Given the description of an element on the screen output the (x, y) to click on. 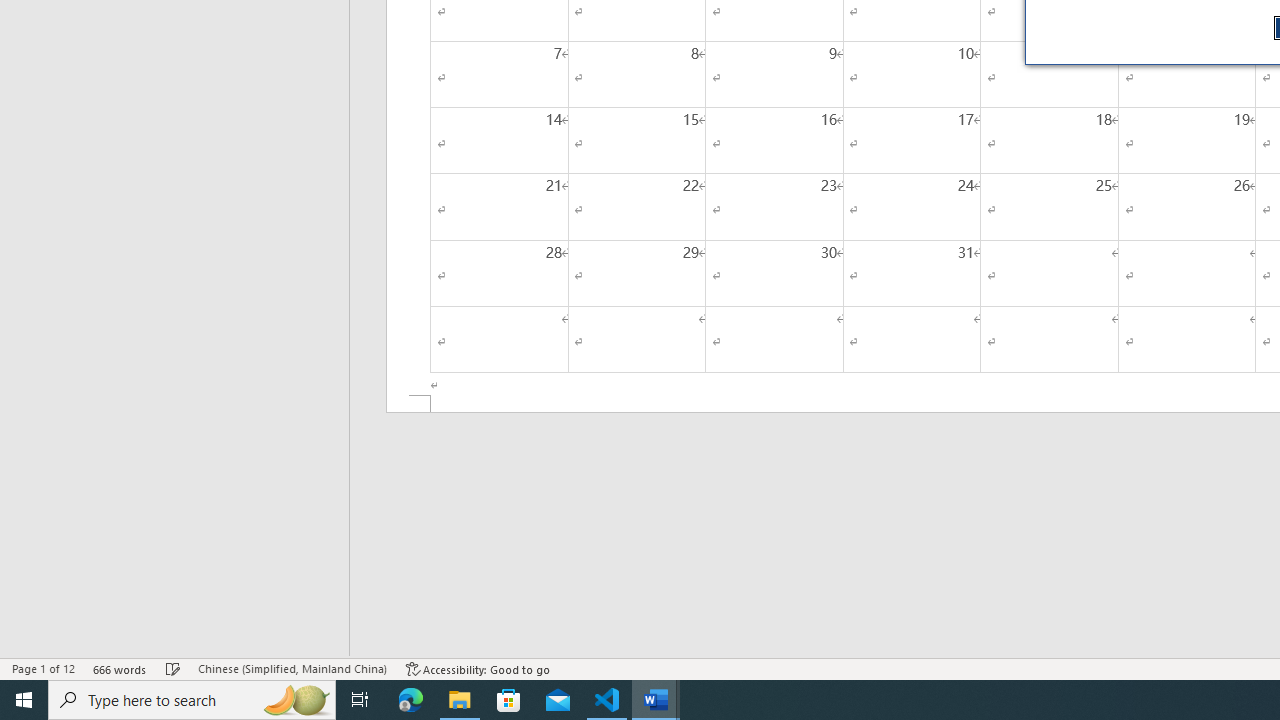
Start (24, 699)
Word Count 666 words (119, 668)
File Explorer - 1 running window (460, 699)
Microsoft Store (509, 699)
Accessibility Checker Accessibility: Good to go (478, 668)
Spelling and Grammar Check Checking (173, 668)
Language Chinese (Simplified, Mainland China) (292, 668)
Visual Studio Code - 1 running window (607, 699)
Page Number Page 1 of 12 (43, 668)
Word - 2 running windows (656, 699)
Microsoft Edge (411, 699)
Type here to search (191, 699)
Task View (359, 699)
